Given the description of an element on the screen output the (x, y) to click on. 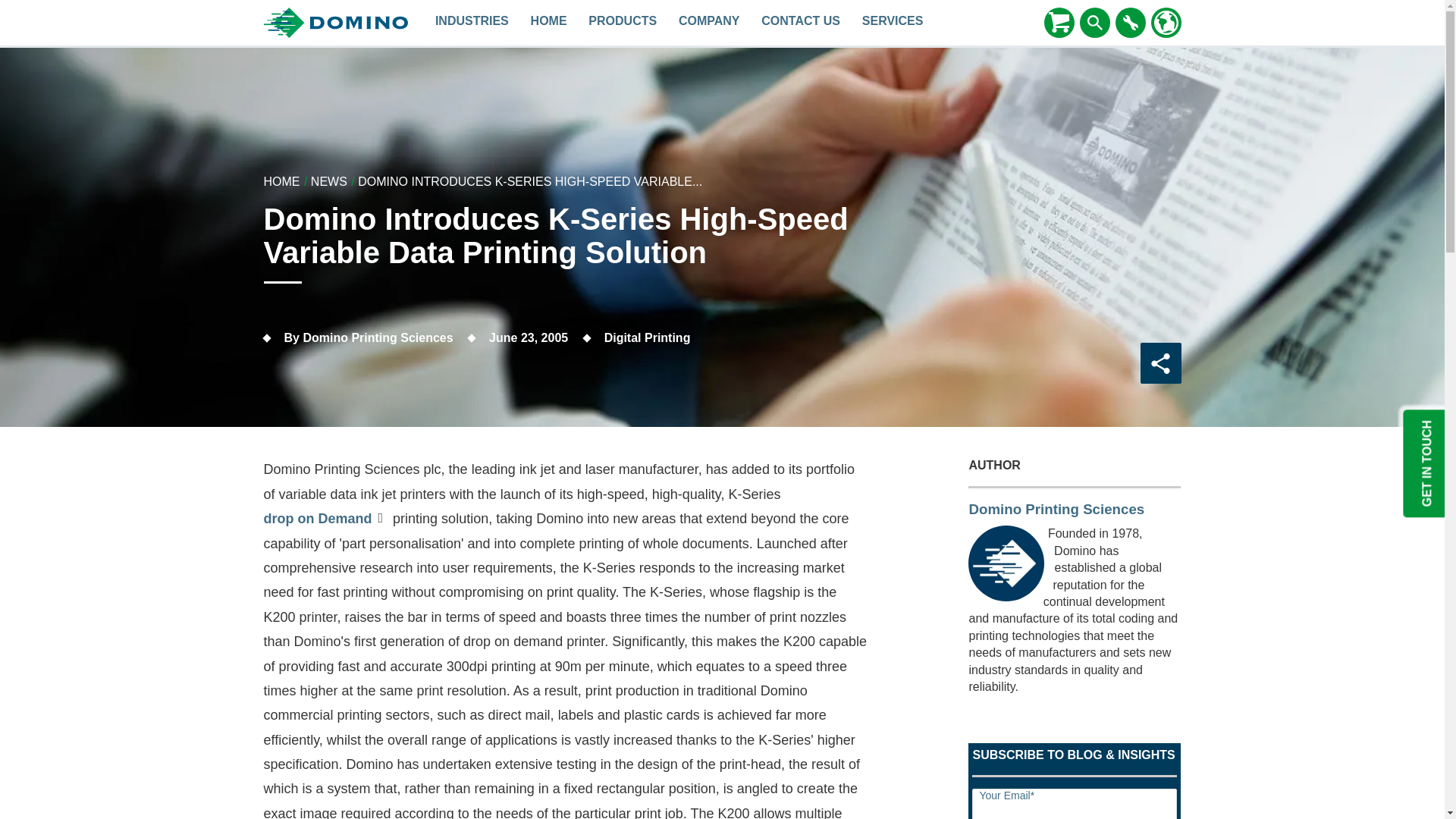
industries (472, 22)
Domino North America - World-Class Industrial Printers (548, 22)
MyDomino Portals (1129, 22)
Change Region (1165, 22)
MyDomino Portals (1129, 22)
Services (891, 22)
BuyDomino (1058, 22)
BuyDomino (1058, 22)
Company (709, 22)
Search (1094, 22)
Change Region (1165, 22)
contact us (800, 22)
products (623, 22)
Search (1094, 22)
